Given the description of an element on the screen output the (x, y) to click on. 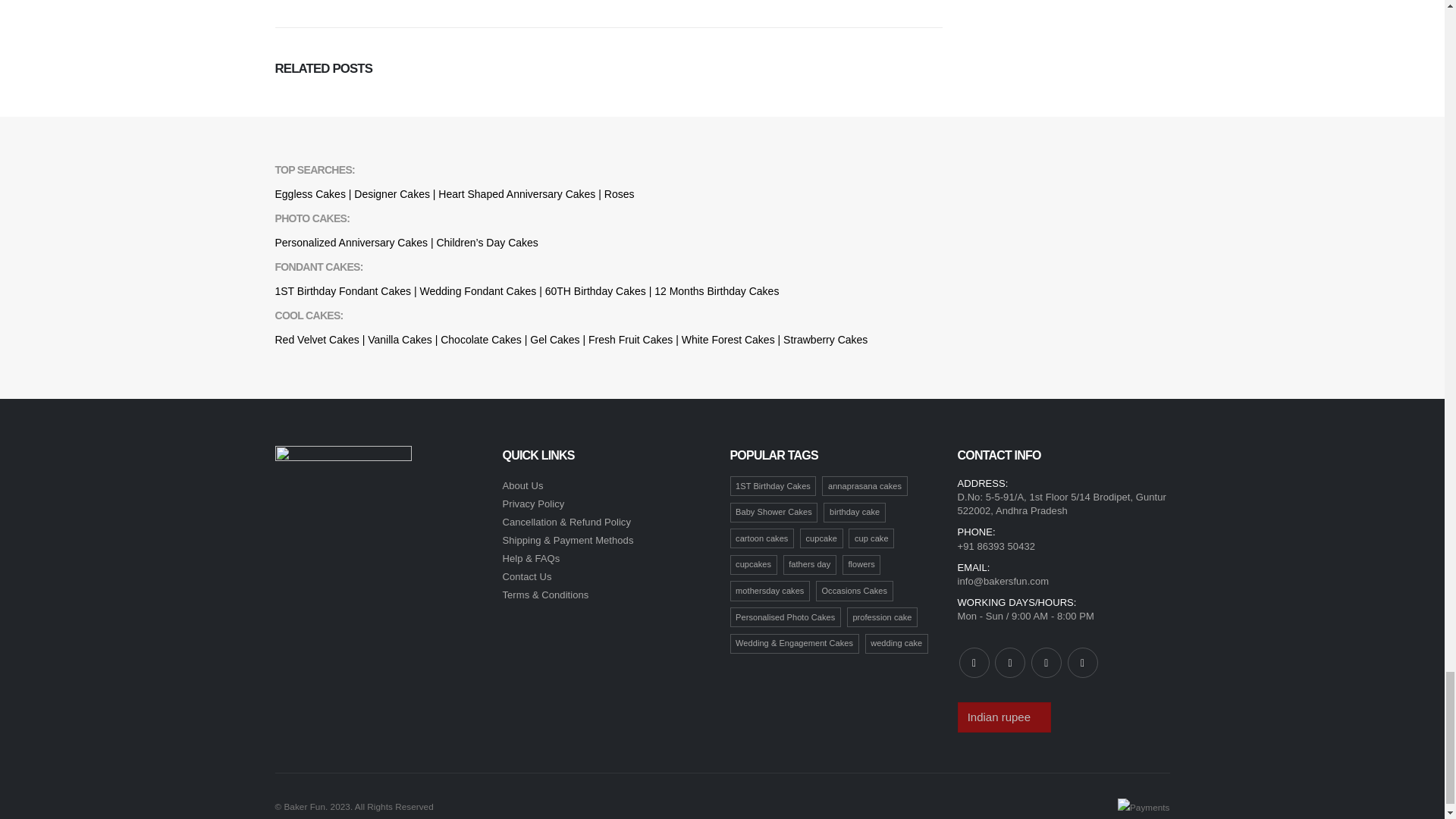
Facebook (973, 662)
Twitter (1009, 662)
Pinterest (1045, 662)
Instagram (1082, 662)
